Given the description of an element on the screen output the (x, y) to click on. 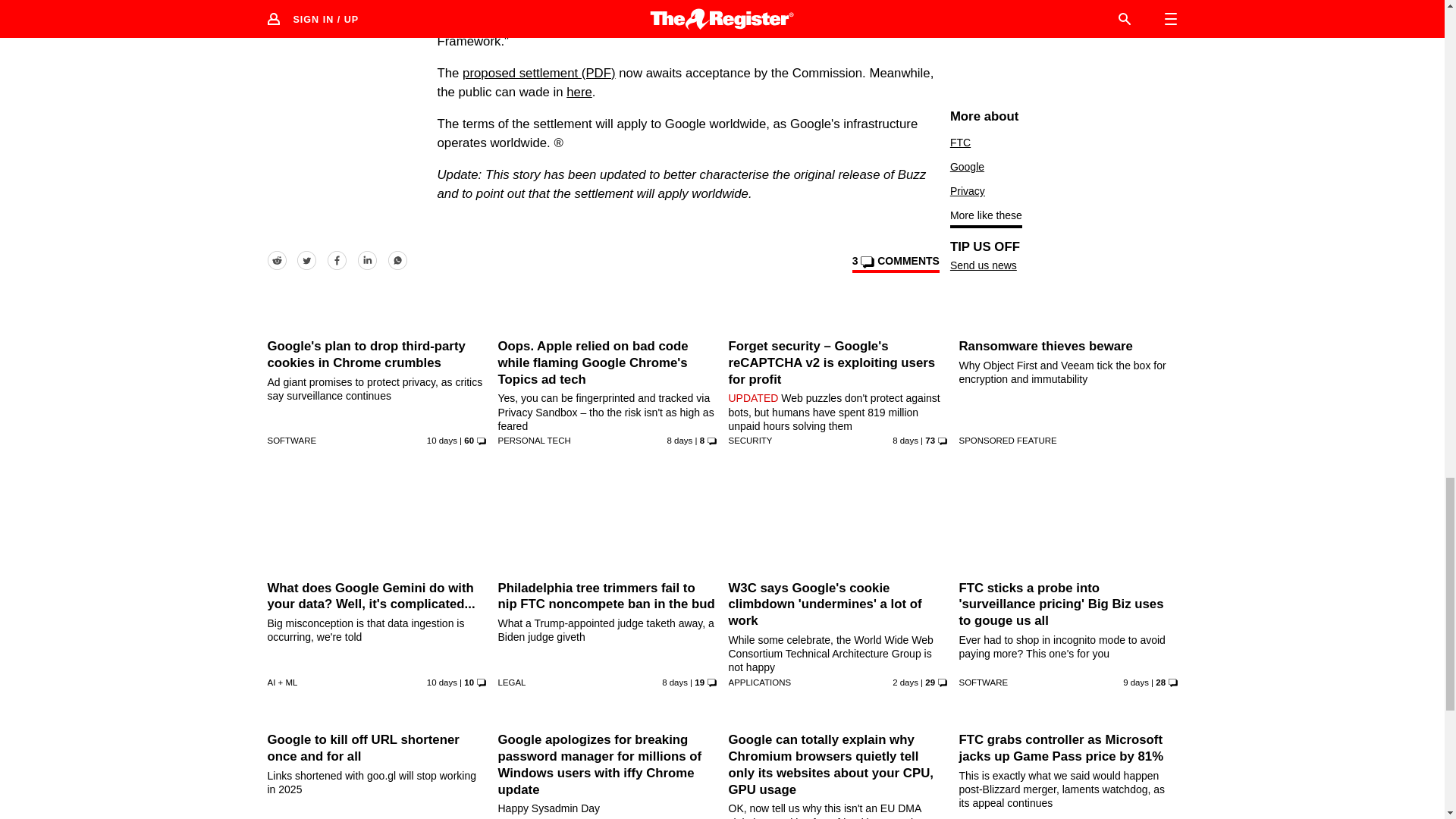
22 Jul 2024 19:15 (441, 682)
30 Jul 2024 13:2 (905, 682)
24 Jul 2024 18:1 (674, 682)
24 Jul 2024 20:44 (679, 440)
23 Jul 2024 18:26 (1135, 682)
23 Jul 2024 0:3 (441, 440)
24 Jul 2024 6:33 (905, 440)
View comments on this article (895, 263)
